Given the description of an element on the screen output the (x, y) to click on. 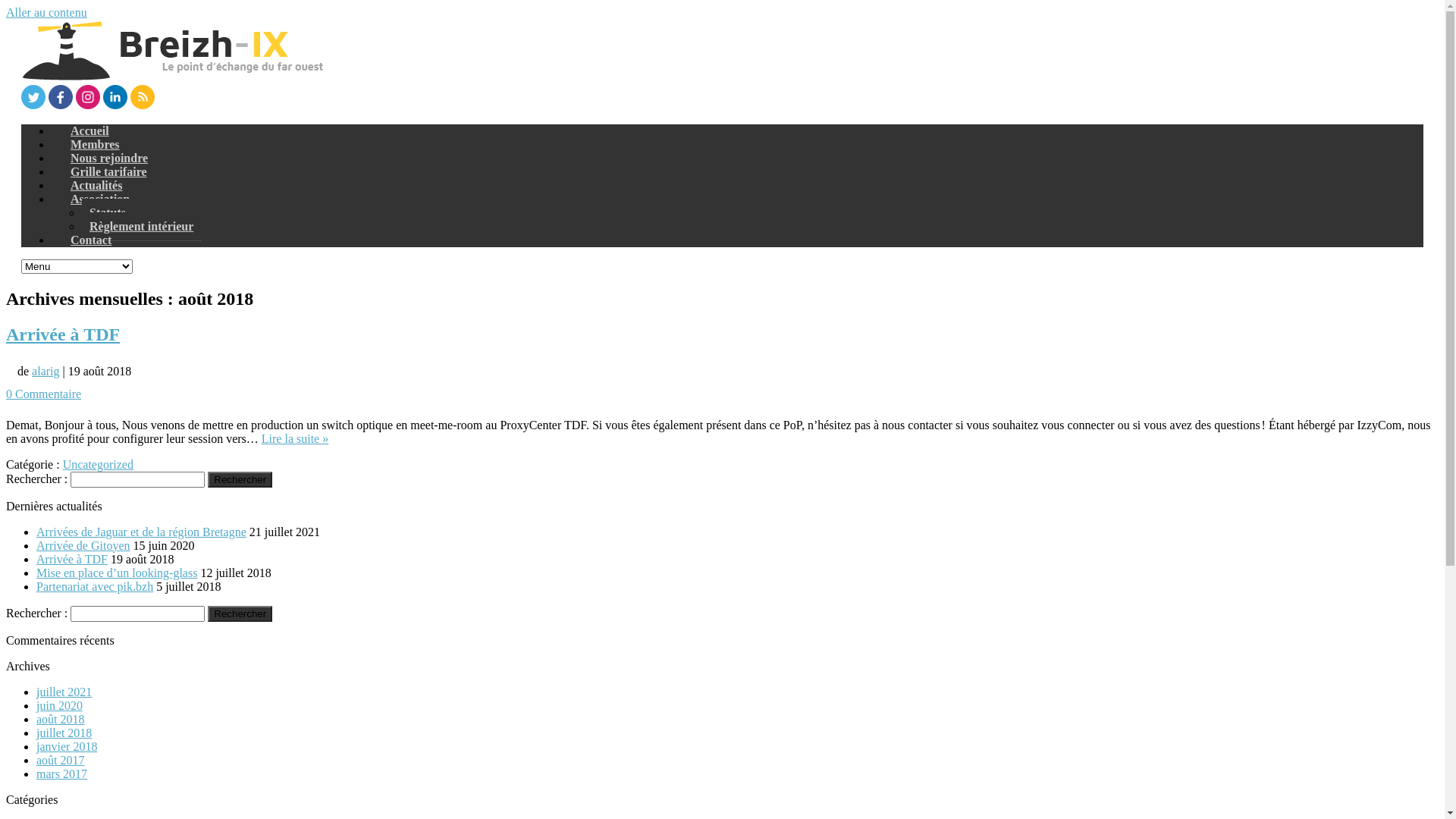
Nous rejoindre Element type: text (108, 157)
Statuts Element type: text (107, 212)
Aller au contenu Element type: text (46, 12)
Contact Element type: text (90, 239)
janvier 2018 Element type: text (66, 746)
Breizh-IX Element type: hover (172, 77)
juillet 2021 Element type: text (63, 691)
juin 2020 Element type: text (59, 705)
mars 2017 Element type: text (61, 773)
Accueil Element type: text (89, 130)
juillet 2018 Element type: text (63, 732)
Uncategorized Element type: text (97, 464)
Rechercher Element type: text (239, 613)
alarig Element type: text (45, 370)
Rechercher Element type: text (239, 479)
Grille tarifaire Element type: text (108, 171)
0 Commentaire Element type: text (43, 393)
Membres Element type: text (94, 143)
Partenariat avec pik.bzh Element type: text (94, 585)
Association Element type: text (99, 198)
